Given the description of an element on the screen output the (x, y) to click on. 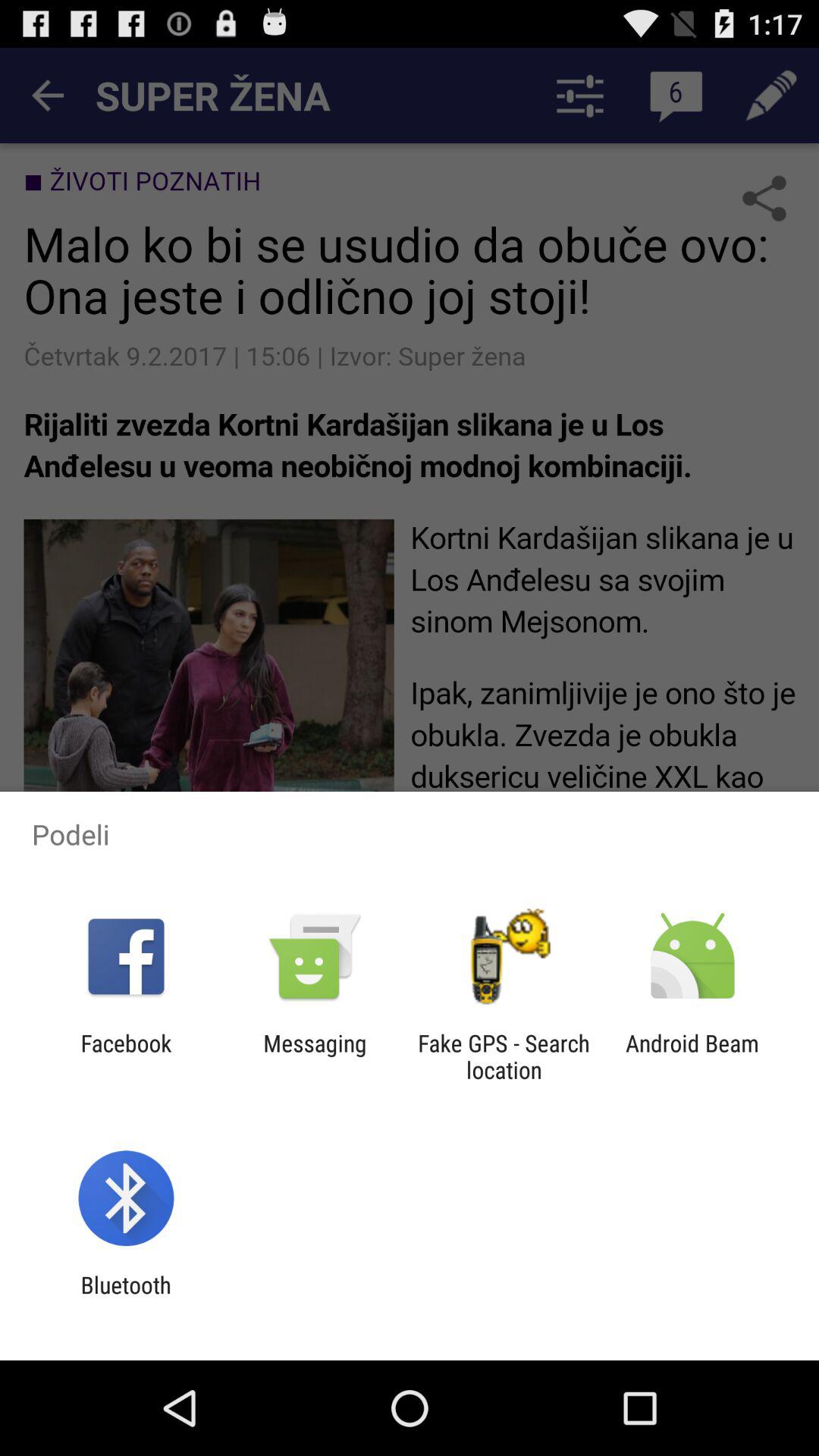
turn off item to the left of the fake gps search app (314, 1056)
